Given the description of an element on the screen output the (x, y) to click on. 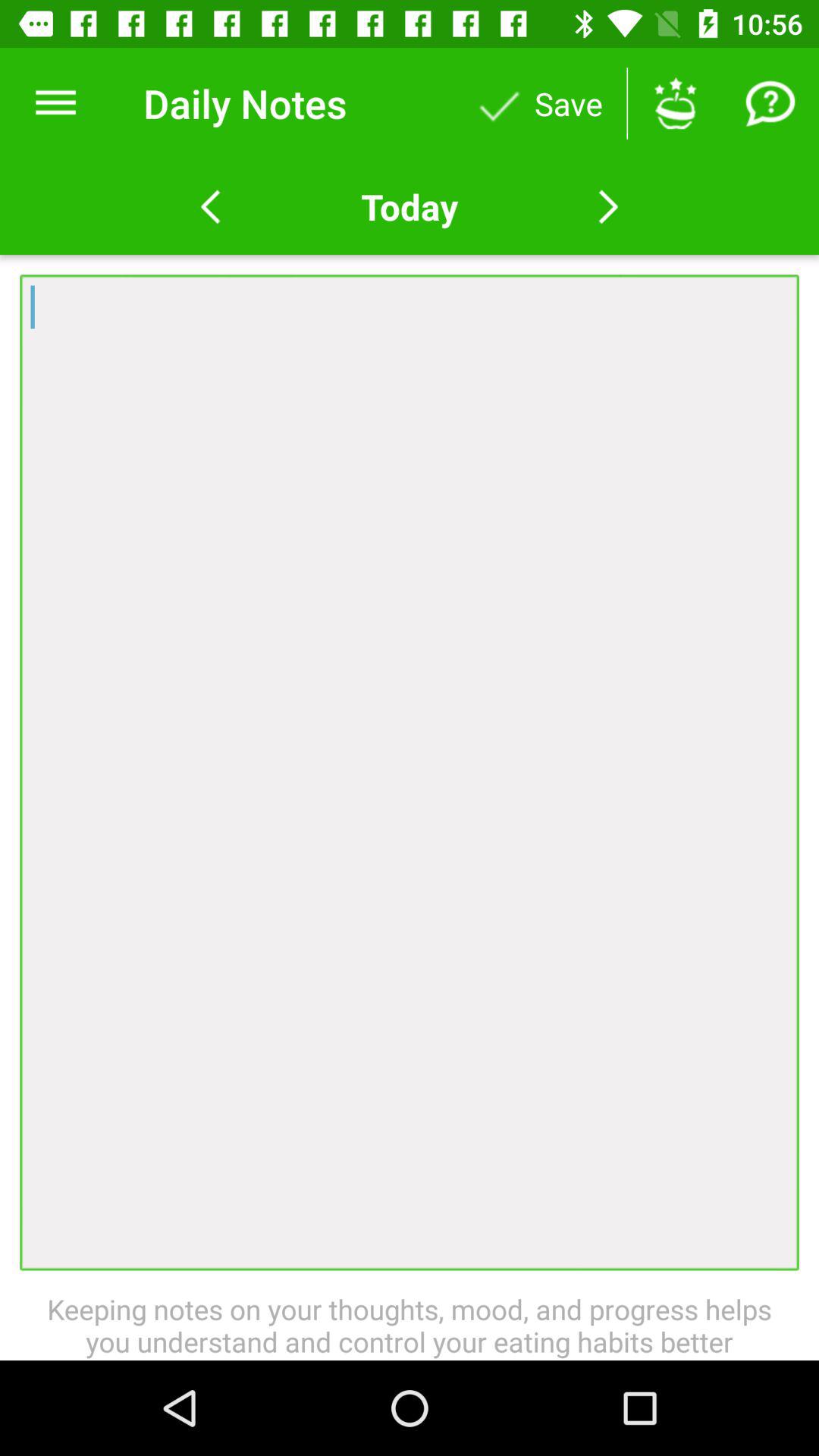
open item next to the daily notes item (55, 103)
